Given the description of an element on the screen output the (x, y) to click on. 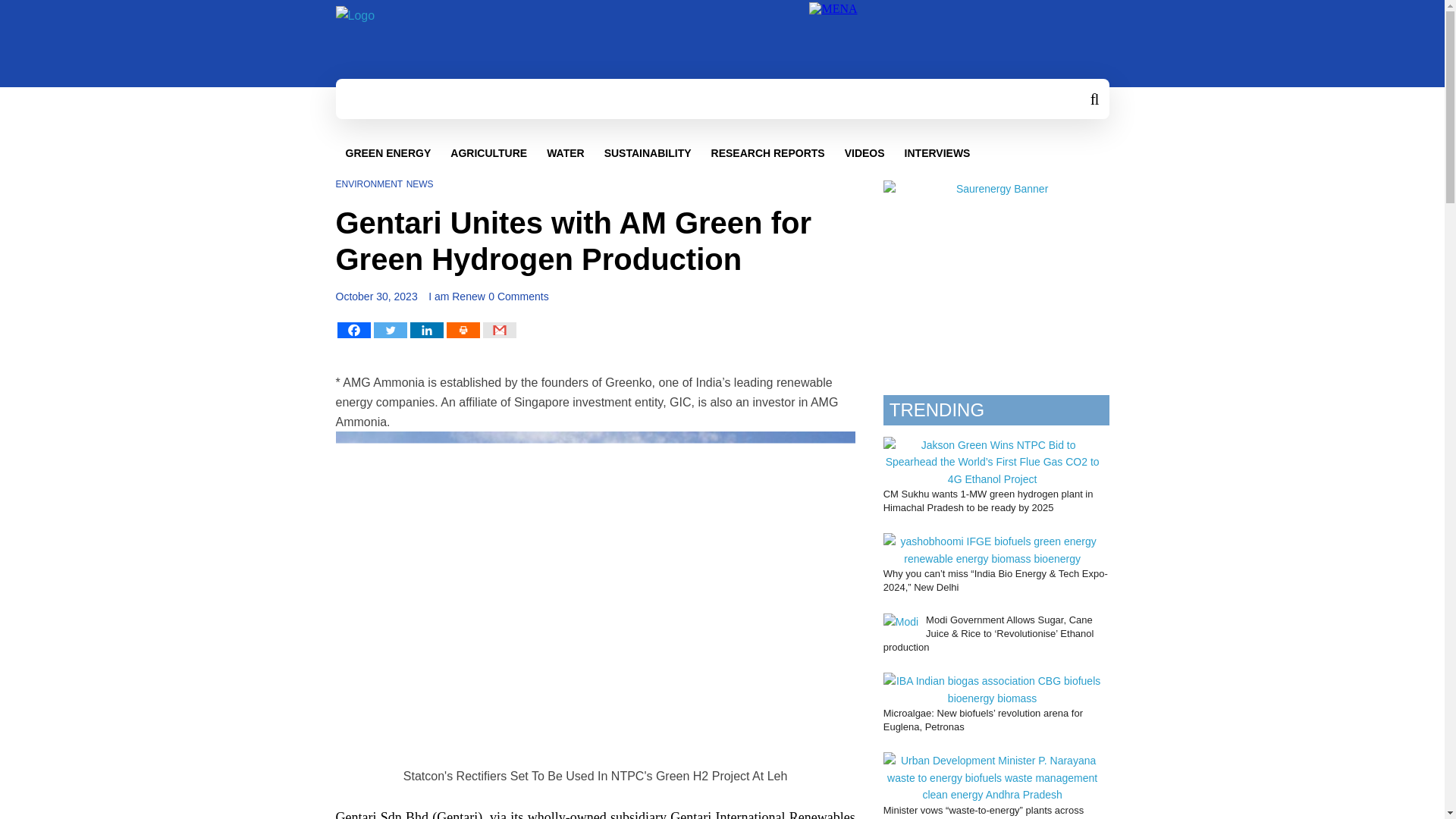
I am Renew (456, 296)
NEWS (419, 184)
October 30, 2023 (375, 296)
Print (462, 330)
AGRICULTURE (488, 152)
I am Renew (456, 296)
Google Gmail (498, 330)
Facebook (352, 330)
GREEN ENERGY (388, 152)
SUSTAINABILITY (647, 152)
